Given the description of an element on the screen output the (x, y) to click on. 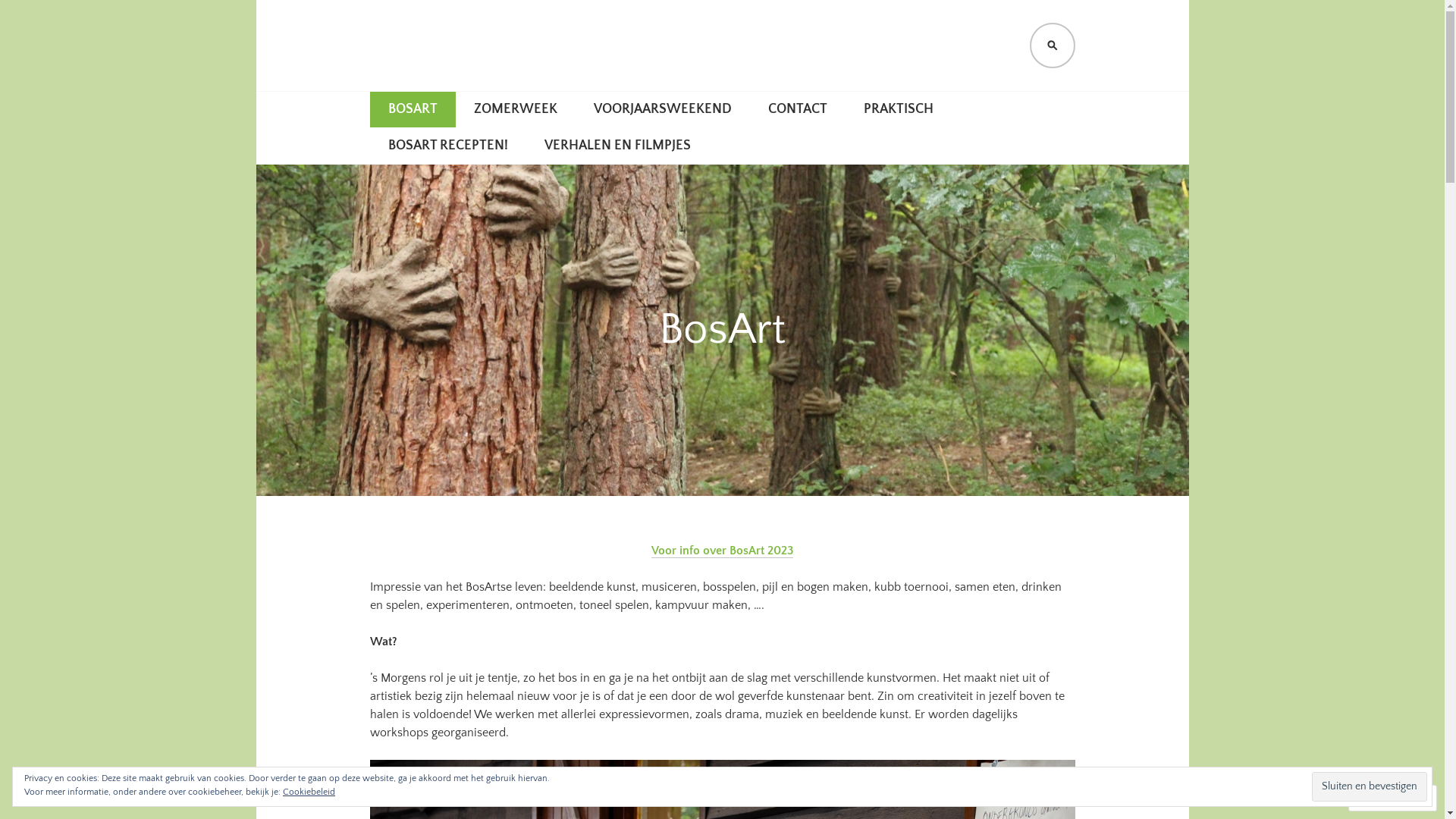
PRAKTISCH Element type: text (897, 109)
BOSART RECEPTEN! Element type: text (448, 146)
BOSART Element type: text (412, 109)
BOSART Element type: text (449, 104)
VOORJAARSWEEKEND Element type: text (661, 109)
VERHALEN EN FILMPJES Element type: text (617, 146)
CONTACT Element type: text (796, 109)
Sluiten en bevestigen Element type: text (1369, 786)
Voor info over BosArt 2023 Element type: text (722, 550)
Volg Element type: text (1377, 797)
Cookiebeleid Element type: text (308, 792)
ZOMERWEEK Element type: text (514, 109)
